Given the description of an element on the screen output the (x, y) to click on. 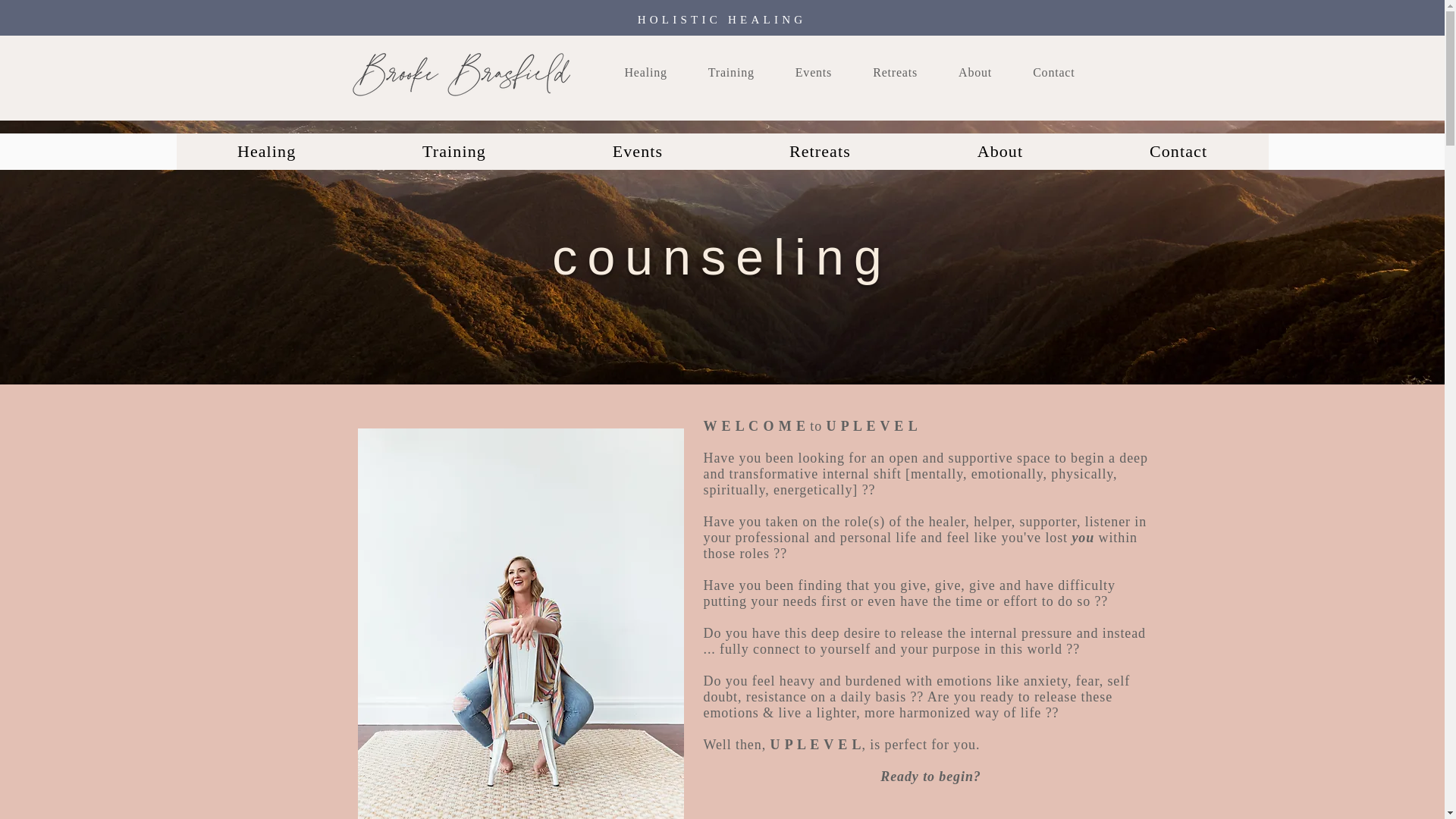
Training (731, 72)
Contact (1053, 72)
Retreats (895, 72)
Healing (266, 151)
About (999, 151)
Healing (646, 72)
Retreats (820, 151)
Events (813, 72)
Contact (1178, 151)
About (975, 72)
Events (637, 151)
Training (454, 151)
